Given the description of an element on the screen output the (x, y) to click on. 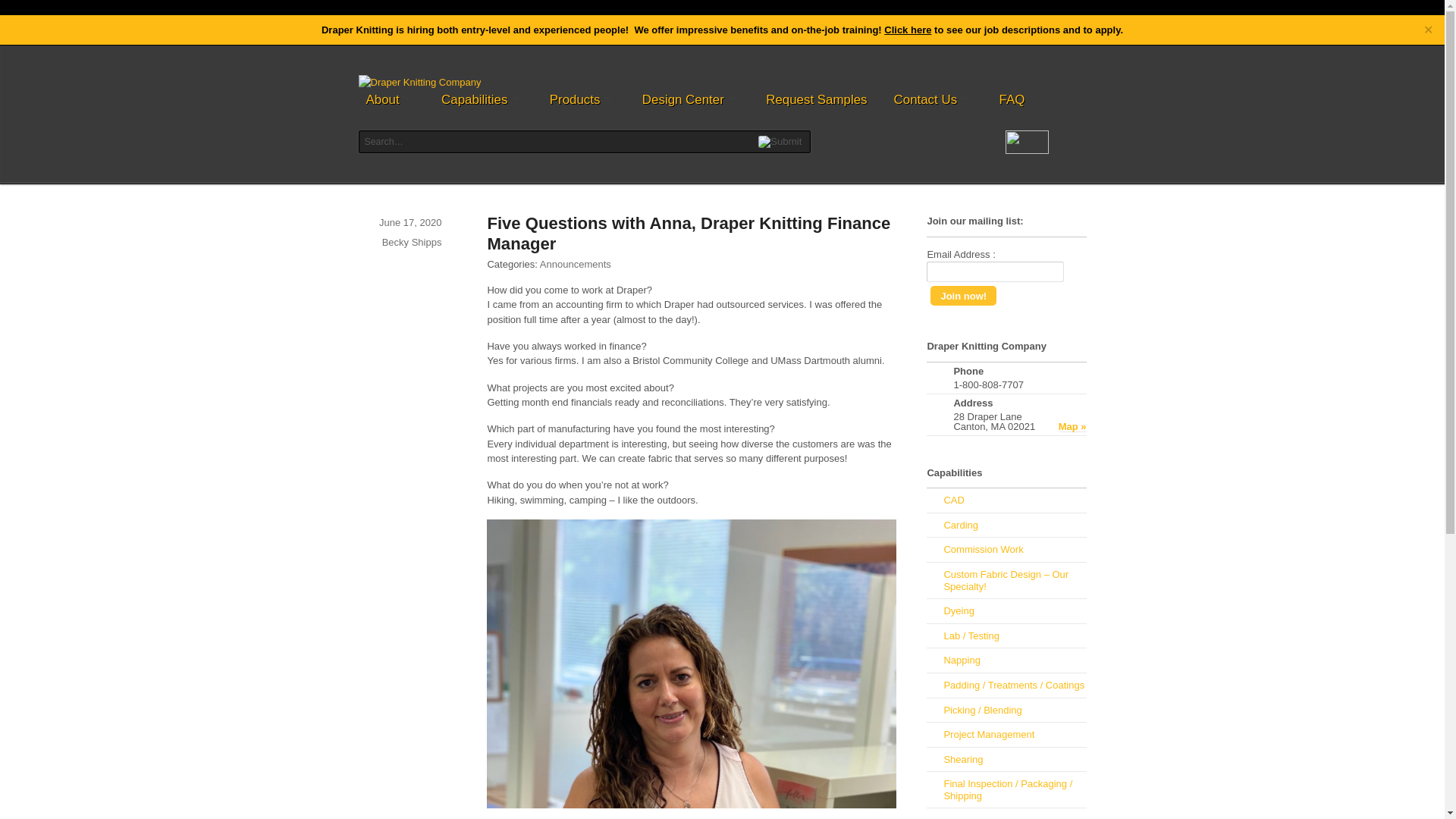
Design Center (690, 99)
FAQ (1011, 99)
Announcements (575, 264)
Join now! (962, 295)
Capabilities (482, 99)
Contact Us (932, 99)
Request Samples (816, 99)
Posts by Becky Shipps (411, 242)
Click here (907, 30)
Becky Shipps (411, 242)
About (390, 99)
Products (582, 99)
